Given the description of an element on the screen output the (x, y) to click on. 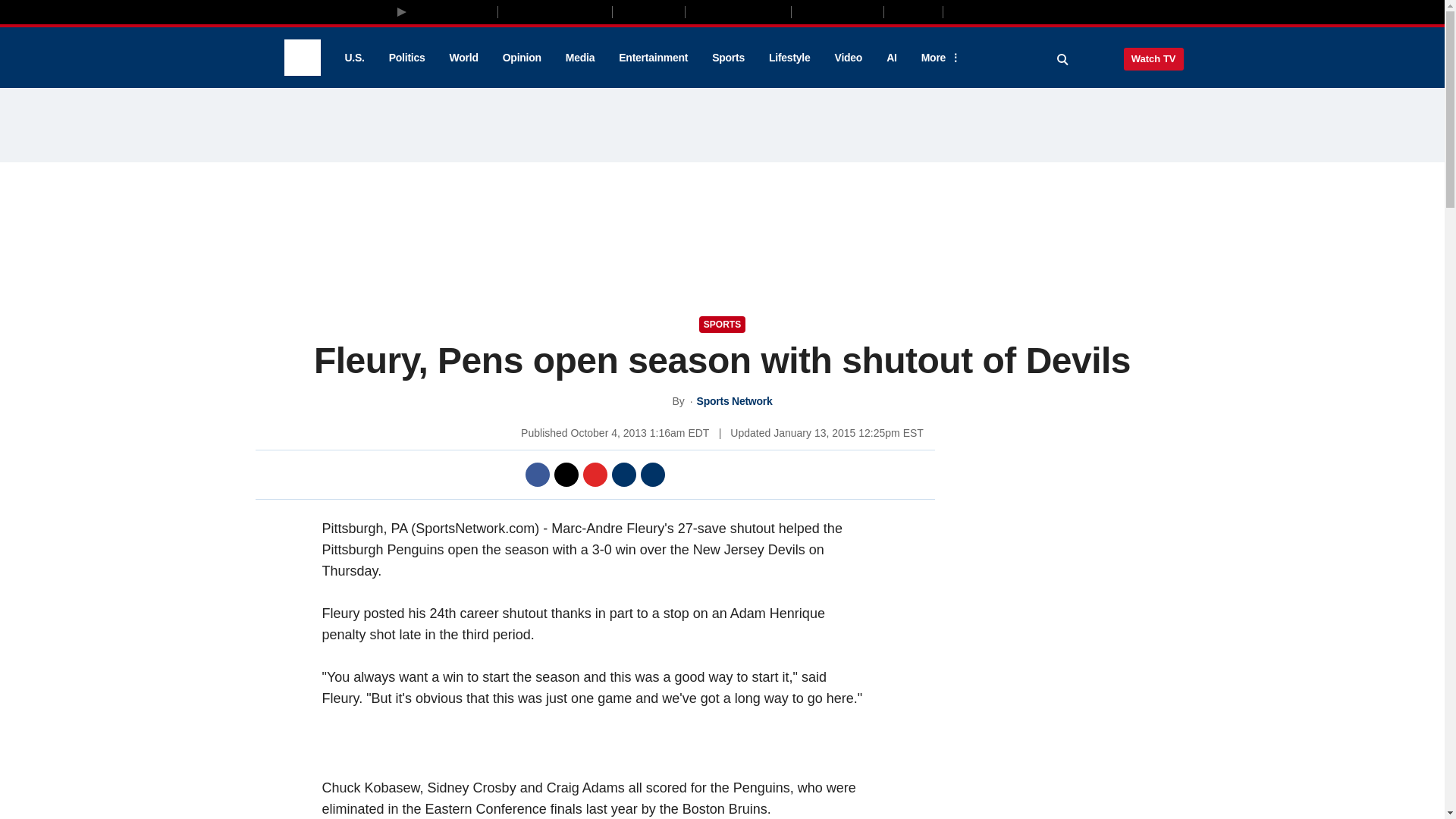
Watch TV (1153, 58)
Fox News Media (453, 11)
Media (580, 57)
Lifestyle (789, 57)
Fox Weather (836, 11)
Politics (407, 57)
Outkick (912, 11)
More (938, 57)
AI (891, 57)
Fox News Audio (737, 11)
